Given the description of an element on the screen output the (x, y) to click on. 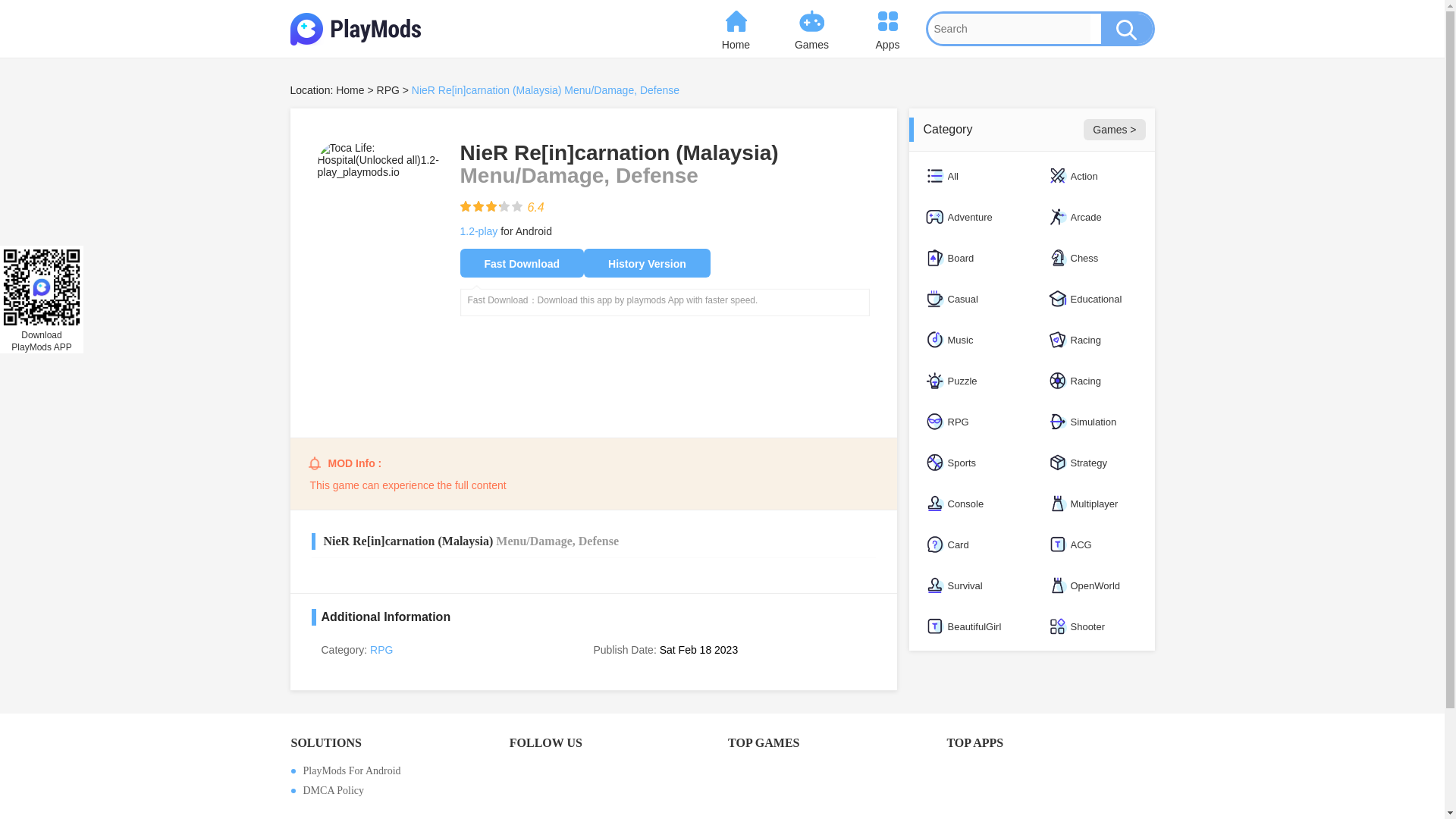
Sports (969, 462)
Strategy (1092, 462)
All (969, 175)
RPG (969, 421)
OpenWorld (1092, 585)
PlayMods For Android (394, 770)
Survival (969, 585)
Shooter (1092, 626)
Chess (1092, 257)
RPG (381, 649)
